Given the description of an element on the screen output the (x, y) to click on. 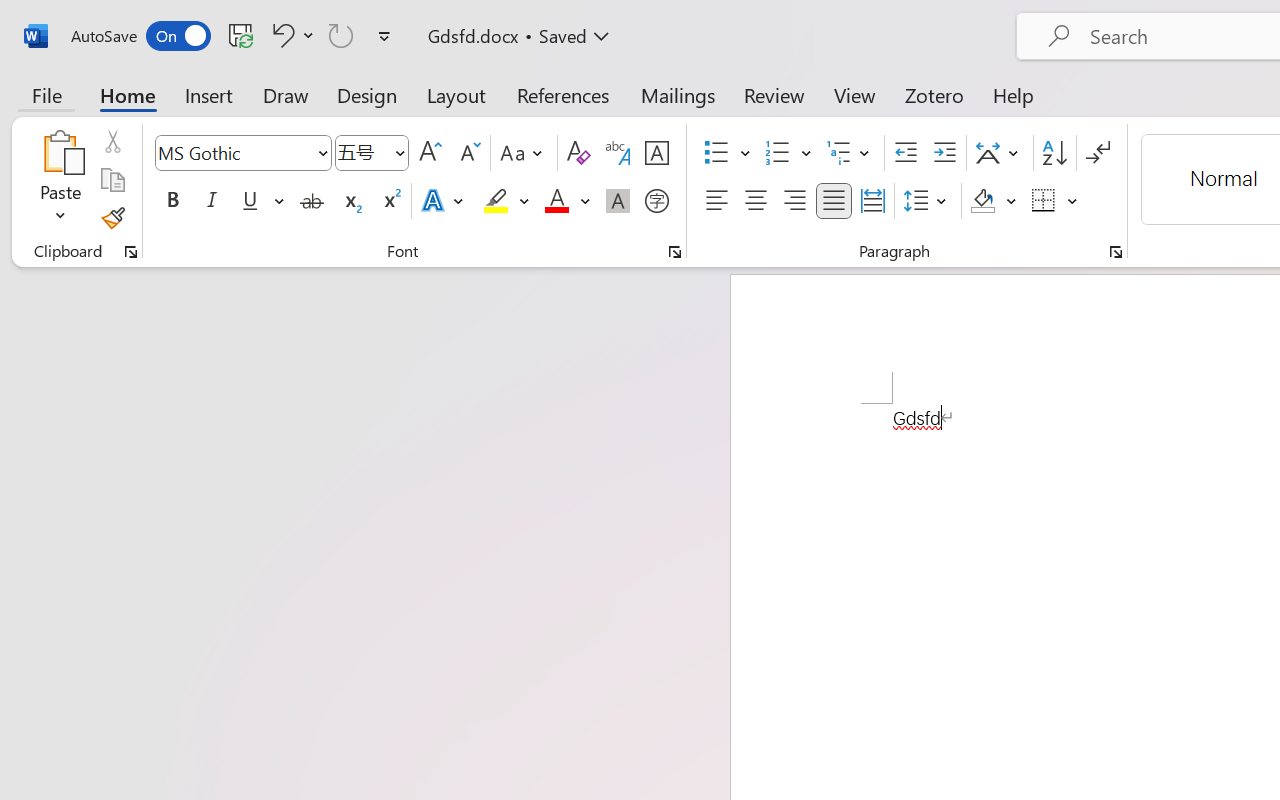
Decrease Indent (906, 153)
Sort... (1054, 153)
Align Left (716, 201)
